Given the description of an element on the screen output the (x, y) to click on. 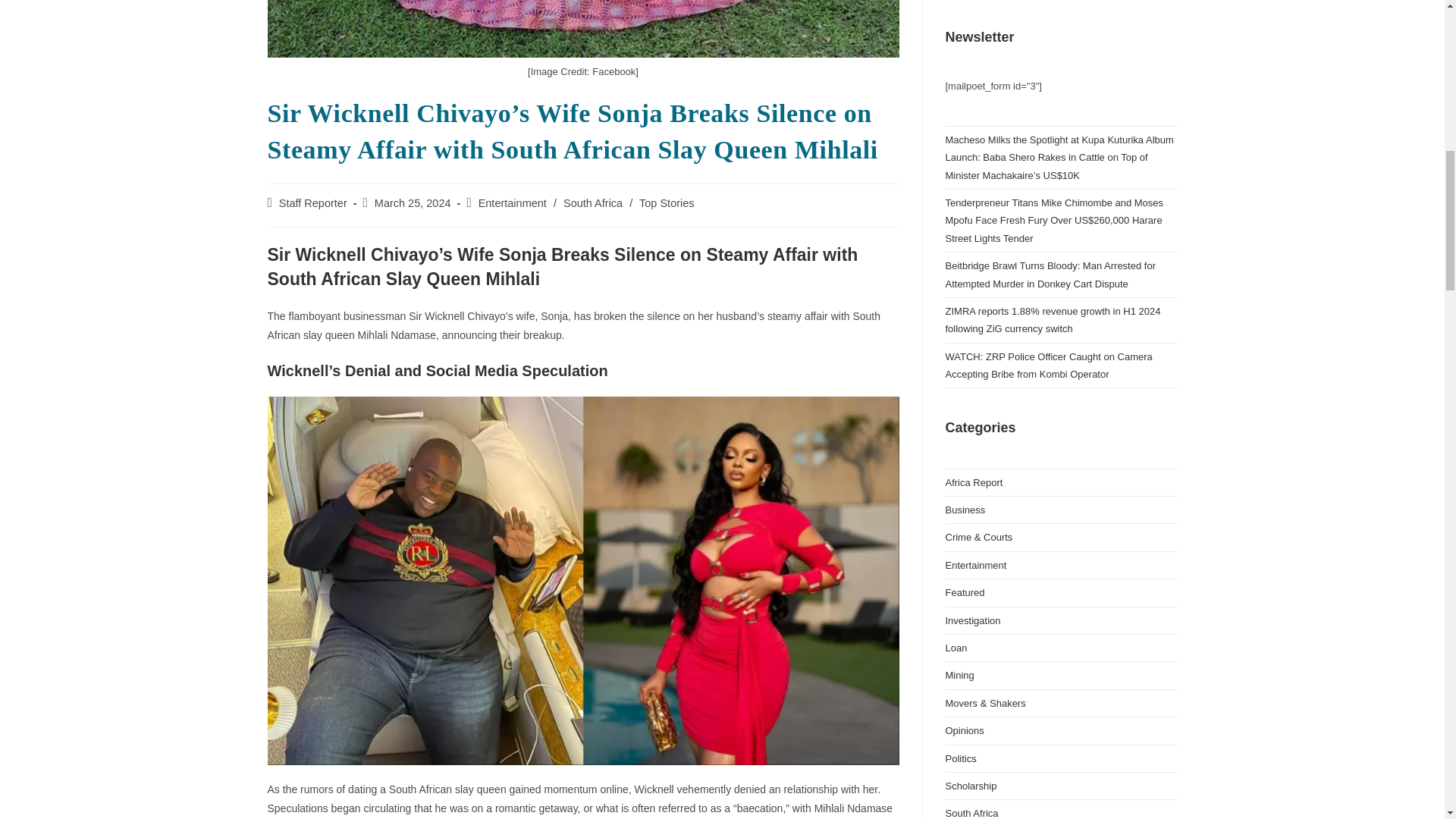
Posts by Staff Reporter (313, 203)
